Given the description of an element on the screen output the (x, y) to click on. 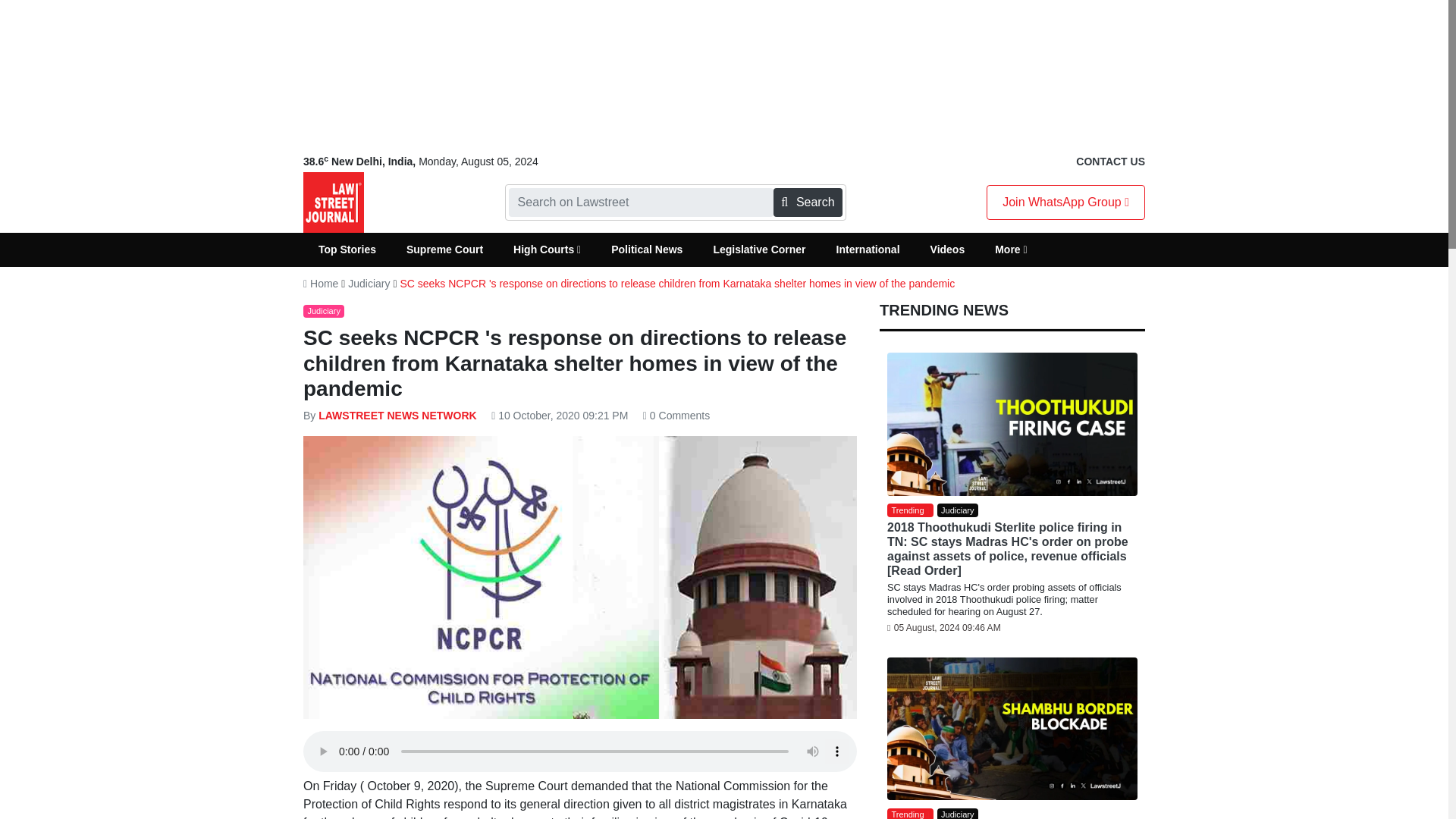
High Courts (546, 249)
International (868, 249)
Search (807, 202)
Videos (947, 249)
Top Stories (346, 249)
Join WhatsApp Group (1065, 202)
Supreme Court (444, 249)
Legislative Corner (759, 249)
Political News (646, 249)
LawStreet Journal (333, 201)
CONTACT US (1109, 161)
More (1010, 249)
